Given the description of an element on the screen output the (x, y) to click on. 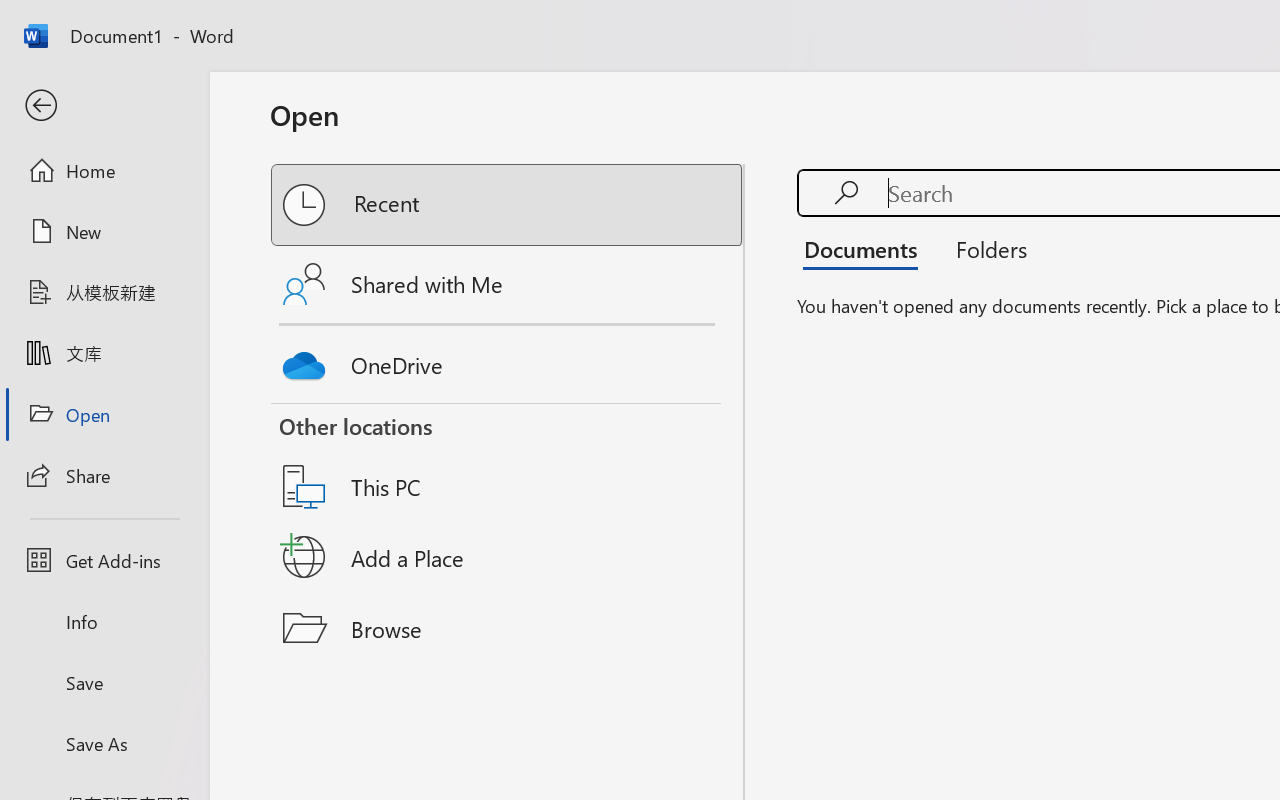
Shared with Me (507, 283)
OneDrive (507, 359)
This PC (507, 461)
Info (104, 621)
Save As (104, 743)
Add a Place (507, 557)
Get Add-ins (104, 560)
Folders (984, 248)
